Given the description of an element on the screen output the (x, y) to click on. 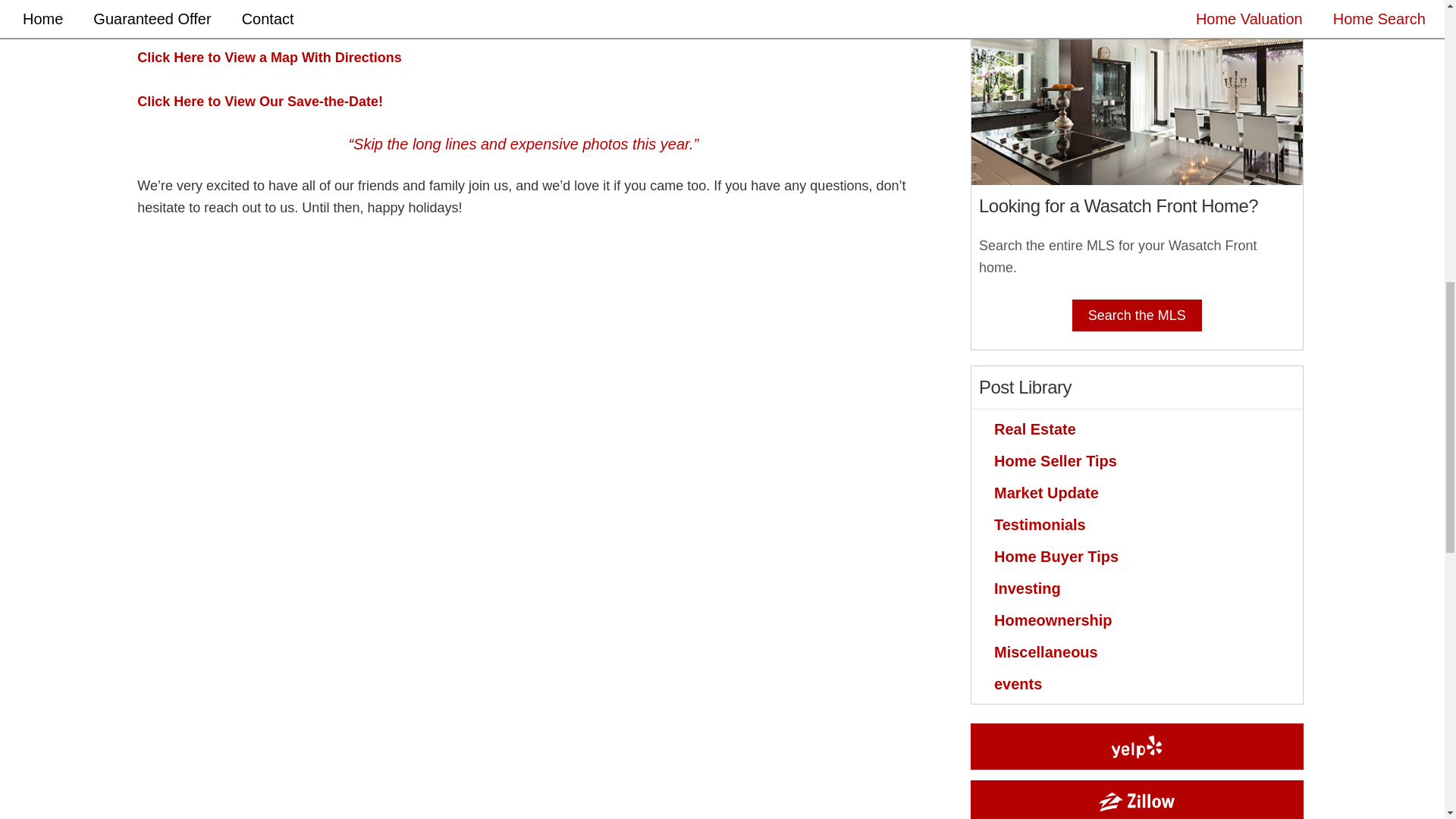
Search the MLS (1136, 315)
Click Here to View a Map With Directions (268, 57)
Click Here to View Our Save-the-Date! (259, 101)
YELP (1136, 746)
ZILLOW (1136, 801)
